Given the description of an element on the screen output the (x, y) to click on. 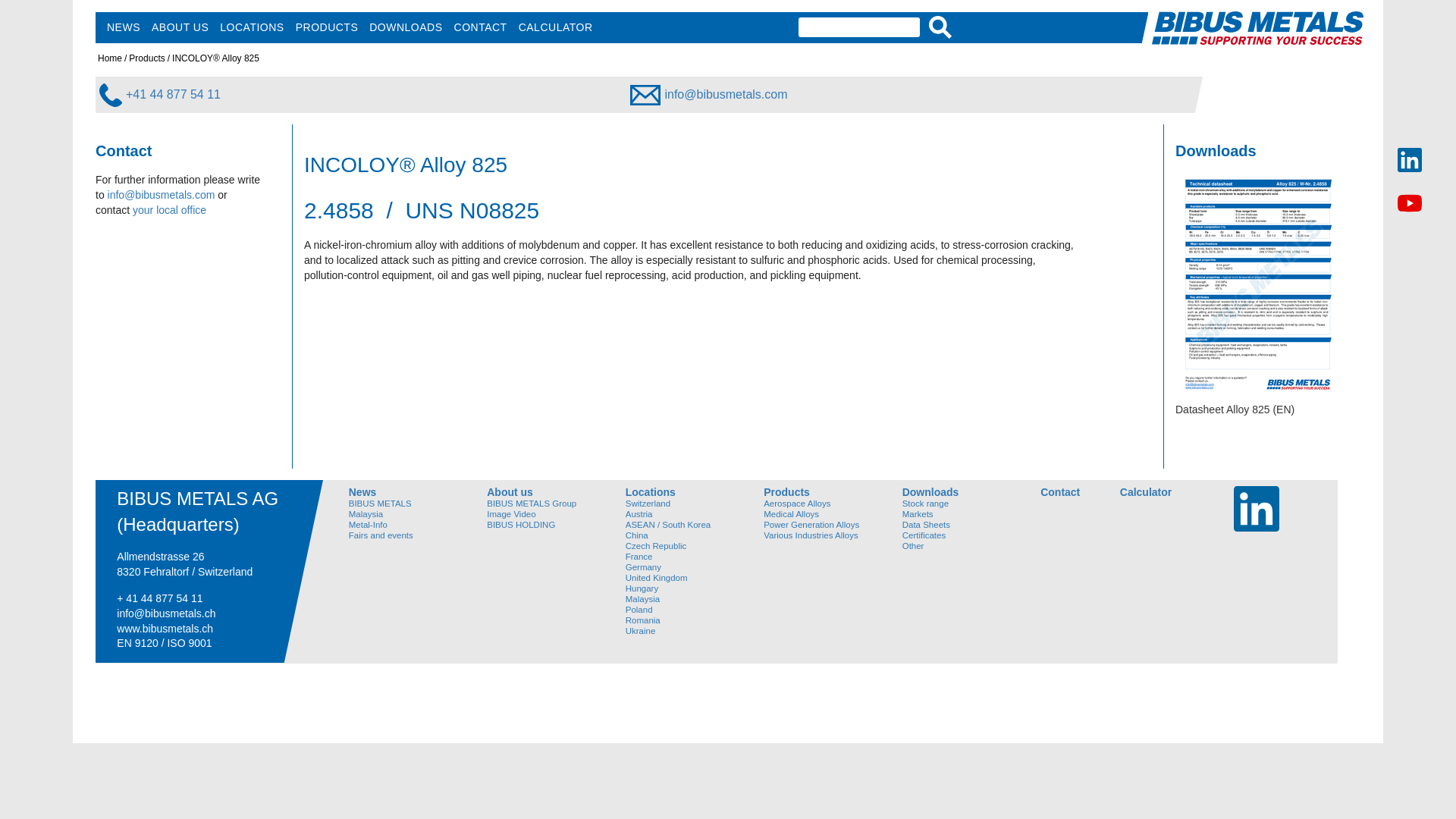
DOWNLOADS (406, 27)
LinkedIn (1255, 508)
YouTube (1409, 202)
CONTACT (480, 27)
Local office (169, 209)
NEWS (124, 27)
Products (146, 58)
LOCATIONS (251, 27)
Home (109, 58)
E-Mail (161, 194)
